Given the description of an element on the screen output the (x, y) to click on. 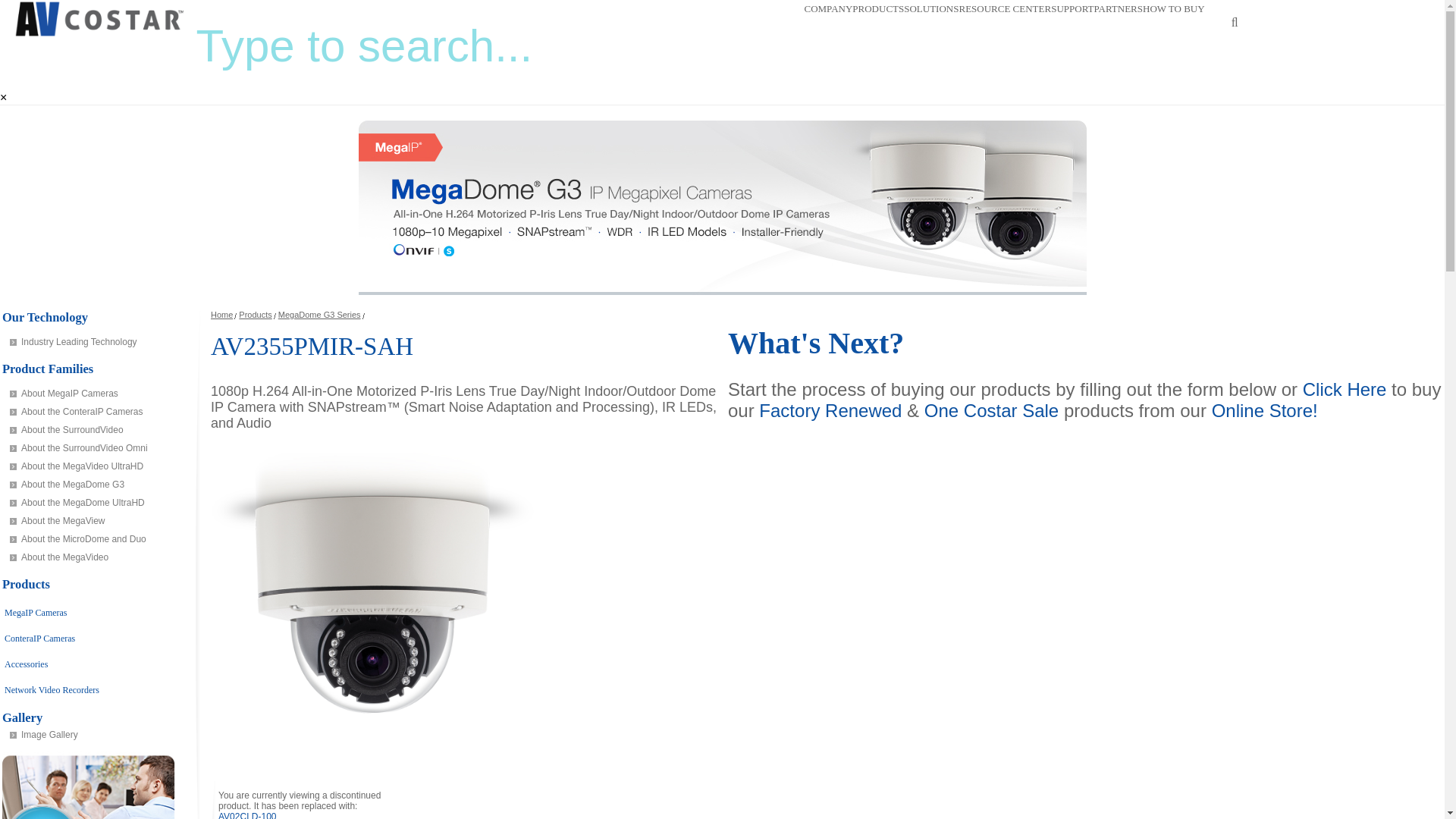
COMPANY (827, 8)
About the SurroundVideo Omni (97, 447)
About the MegaDome UltraHD (97, 502)
Industry Leading Technology (97, 341)
About the MegaVideo (97, 556)
About the MegaDome G3 (97, 484)
Opens a widget where you can find more information (1386, 792)
ConteraIP Cameras (39, 638)
About the MegaVideo UltraHD (97, 466)
About MegaIP Cameras (97, 393)
Register (1414, 12)
About the MegaView (97, 520)
RESOURCE CENTER (1004, 8)
About the MicroDome and Duo (97, 538)
SOLUTIONS (931, 8)
